Given the description of an element on the screen output the (x, y) to click on. 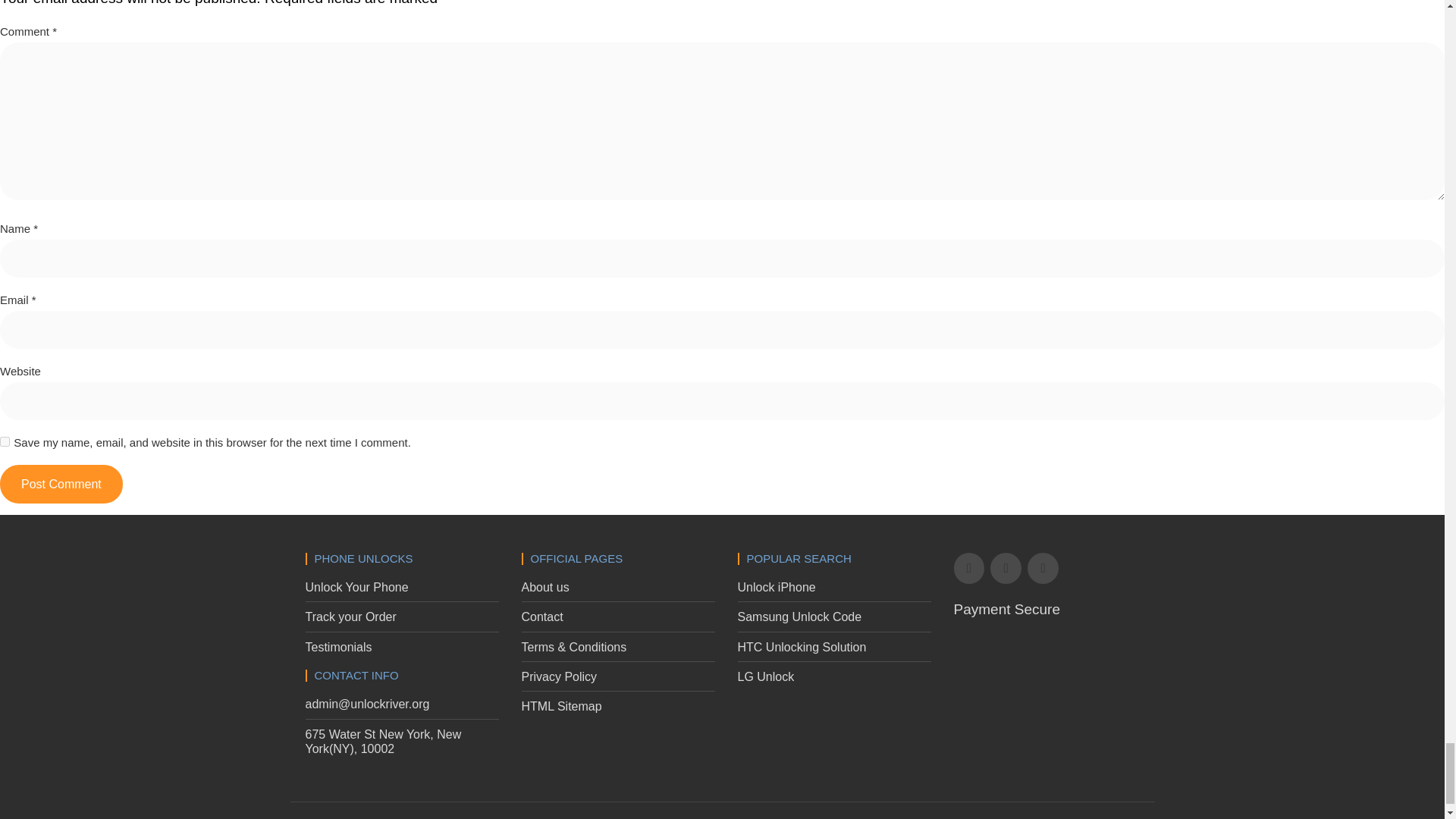
Post Comment (61, 484)
yes (5, 441)
